Given the description of an element on the screen output the (x, y) to click on. 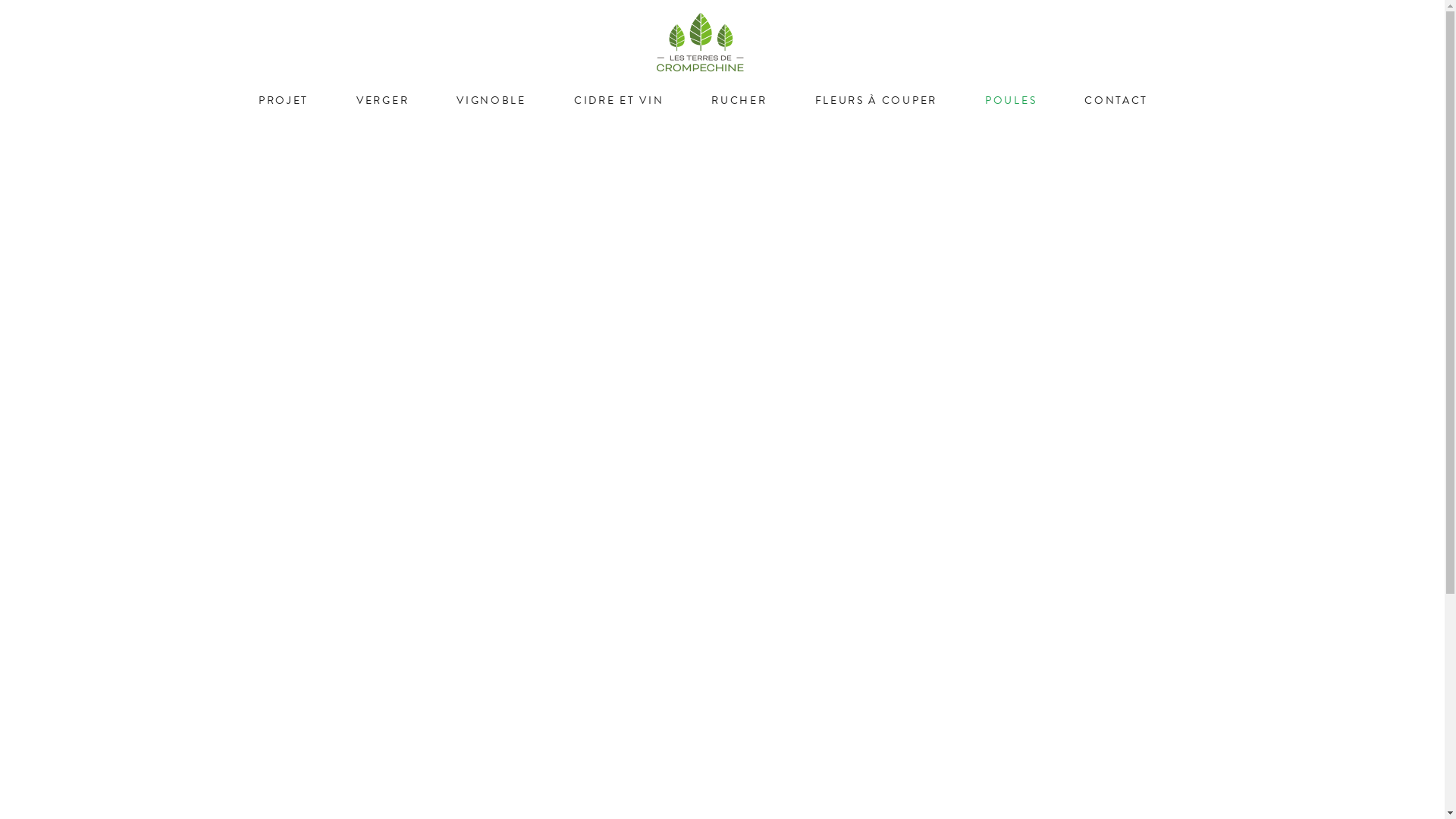
RUCHER Element type: text (738, 100)
PROJET Element type: text (283, 100)
CONTACT Element type: text (1115, 100)
POULES Element type: text (1010, 100)
CIDRE ET VIN Element type: text (618, 100)
VIGNOBLE Element type: text (490, 100)
VERGER Element type: text (382, 100)
logo-lettrage-couleur Element type: hover (700, 41)
